Given the description of an element on the screen output the (x, y) to click on. 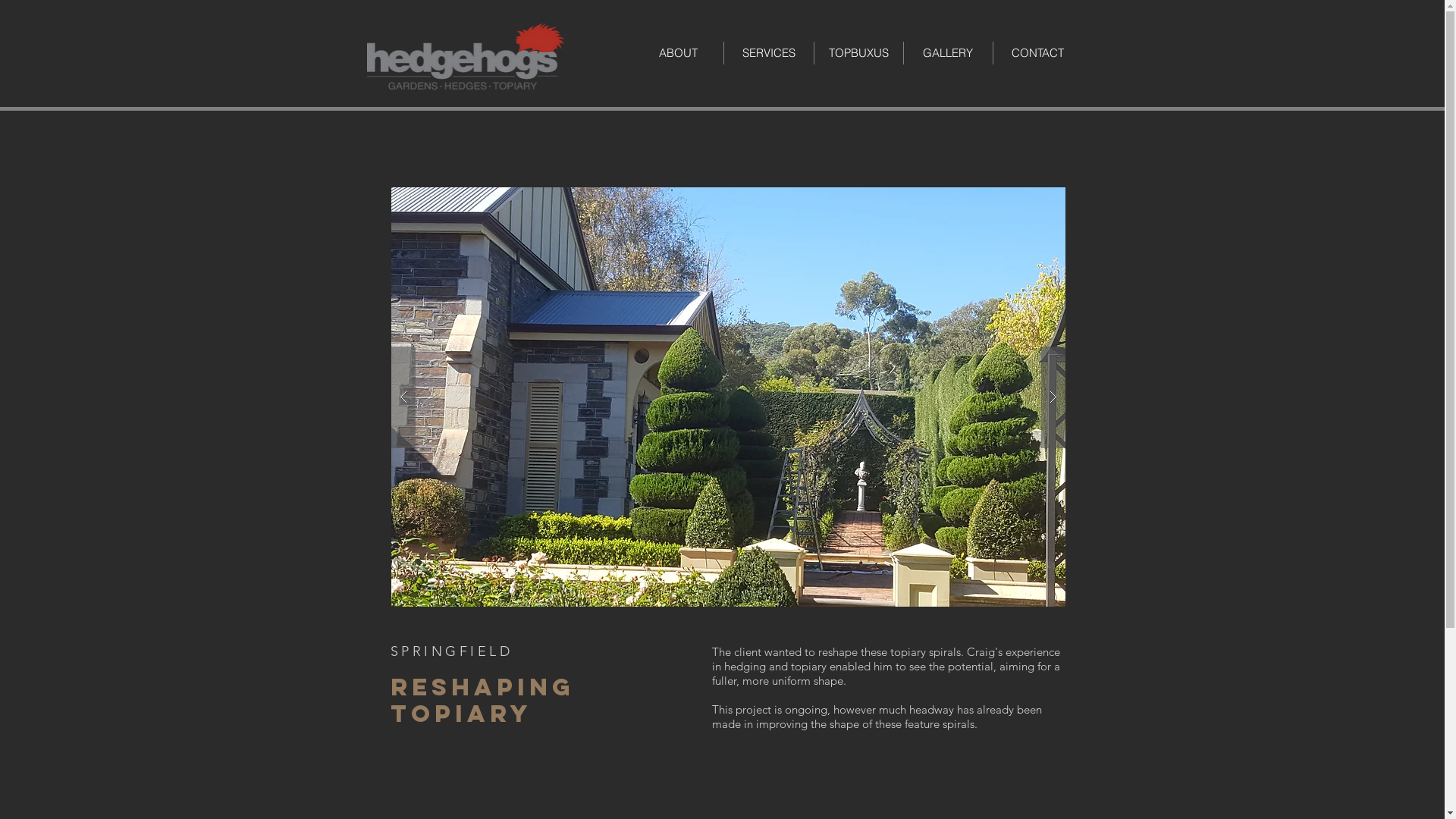
CONTACT Element type: text (1036, 52)
GALLERY Element type: text (946, 52)
ABOUT Element type: text (677, 52)
TOPBUXUS Element type: text (857, 52)
SERVICES Element type: text (768, 52)
